Given the description of an element on the screen output the (x, y) to click on. 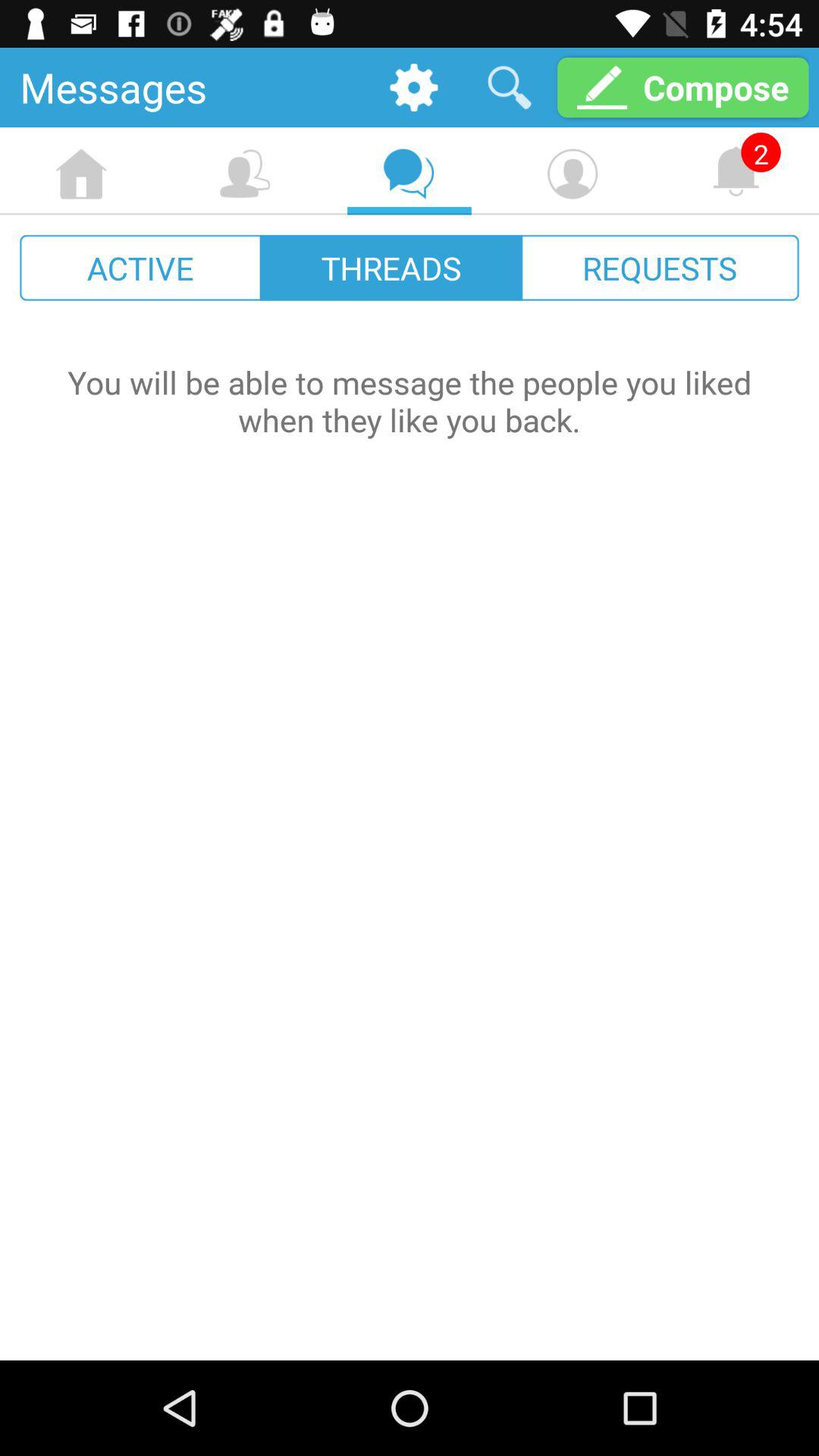
jump to active (140, 267)
